Given the description of an element on the screen output the (x, y) to click on. 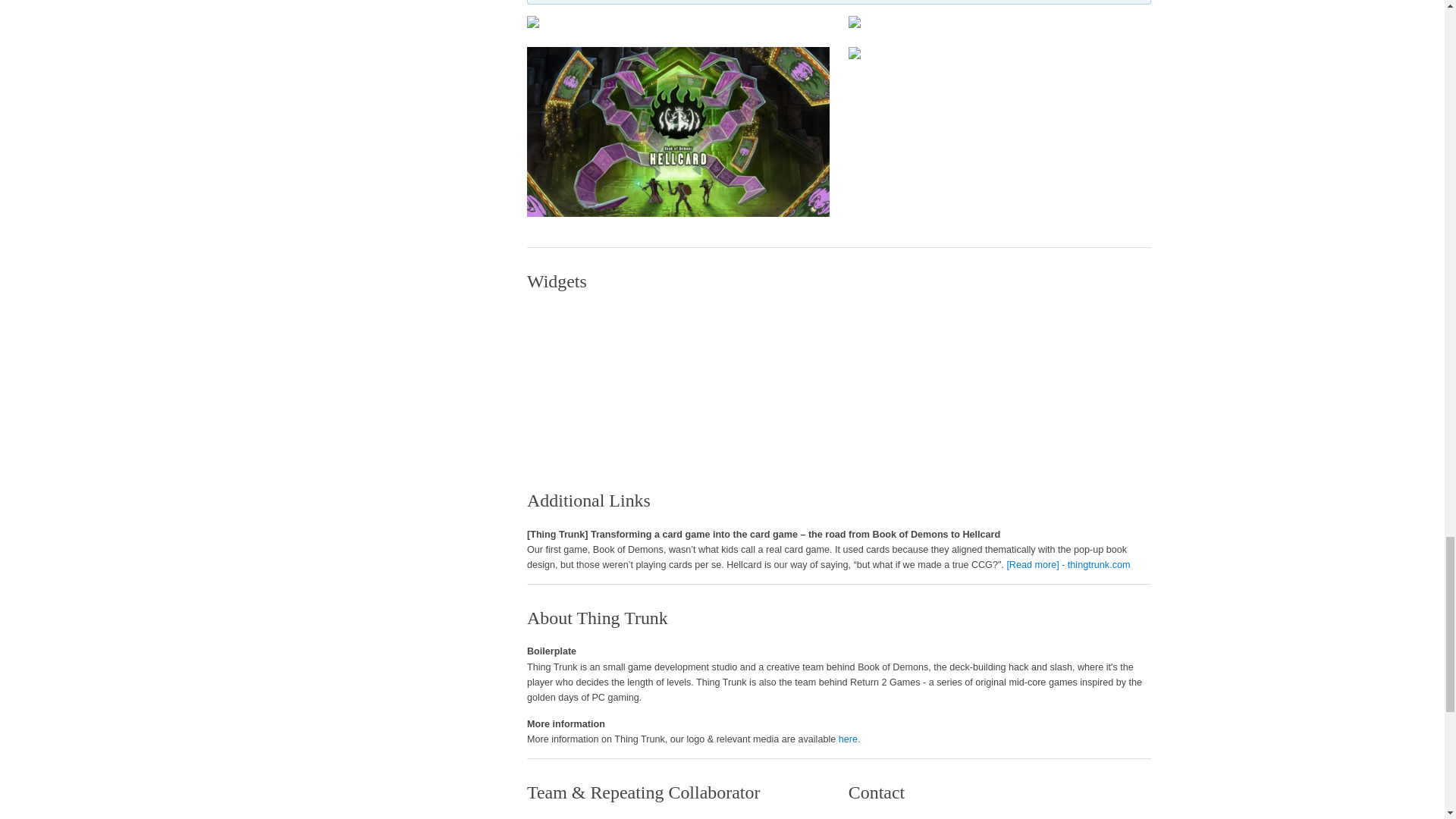
here (847, 738)
